Given the description of an element on the screen output the (x, y) to click on. 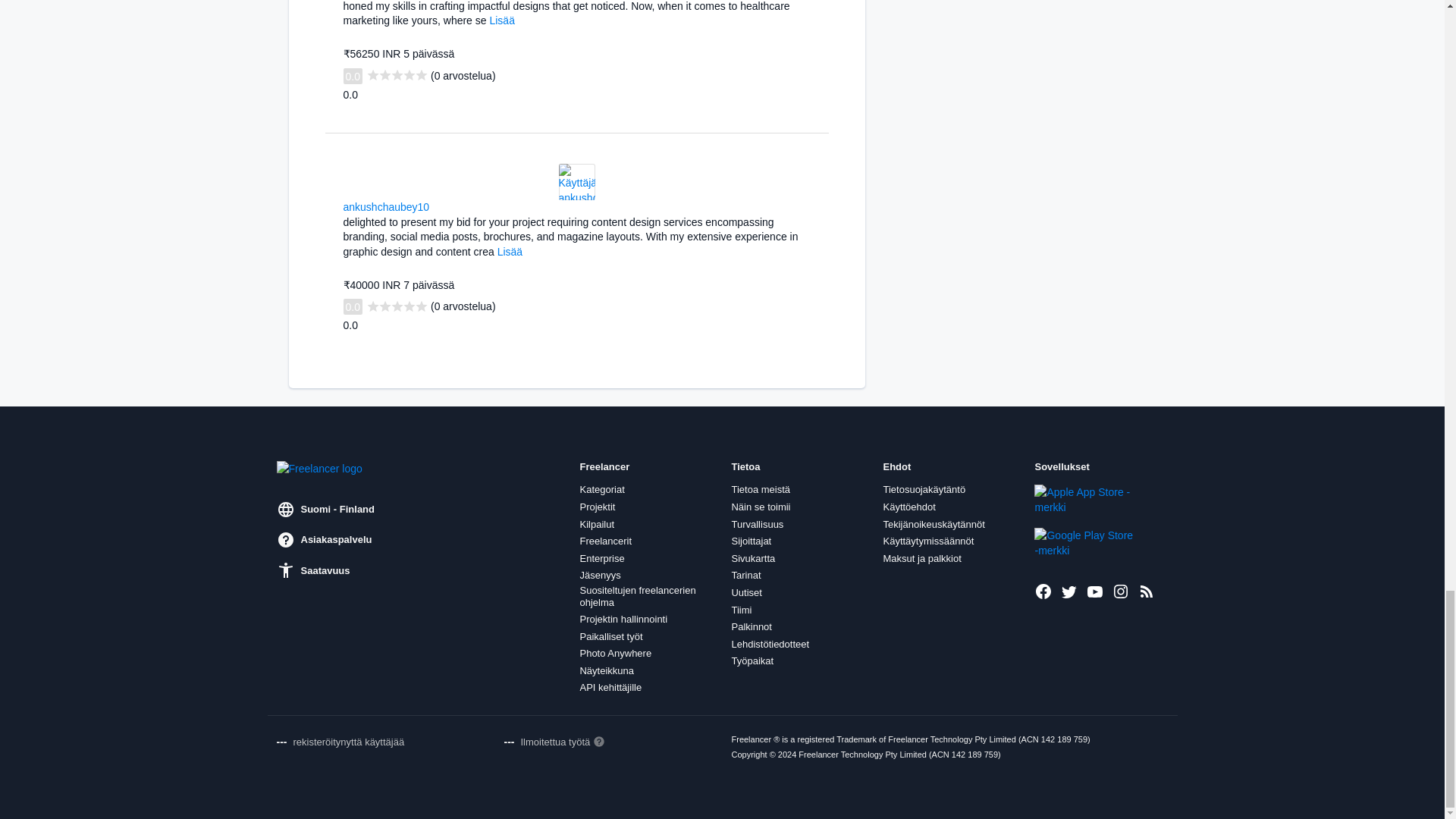
India (438, 205)
Lataa App Storesta (1085, 499)
Freelancer Facebookissa (1042, 591)
Hanki Google Playsta (1085, 542)
ankushchaubey10 (385, 206)
